Given the description of an element on the screen output the (x, y) to click on. 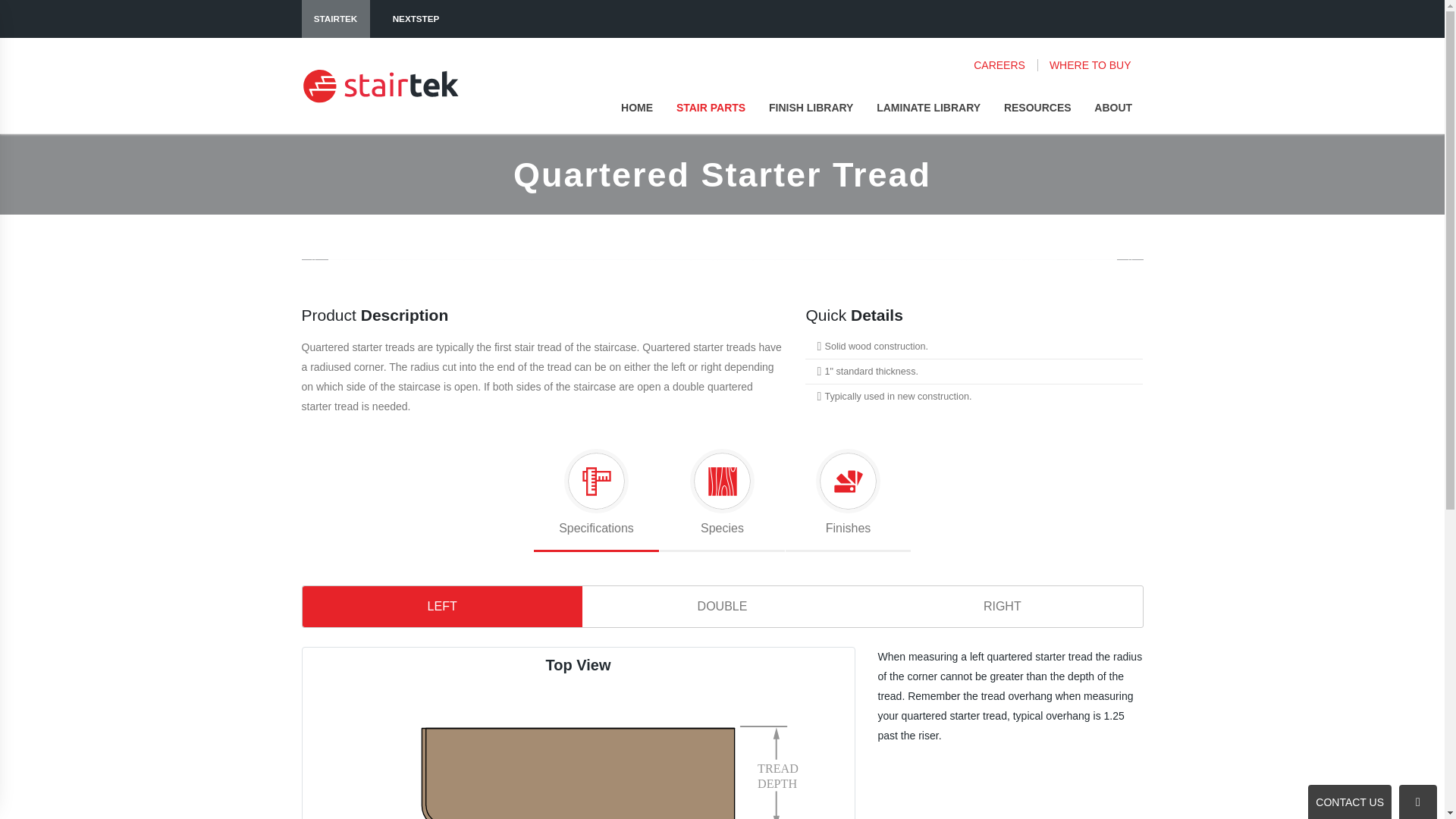
LEFT (440, 606)
FINISH LIBRARY (811, 107)
Finishes (848, 497)
LAMINATE LIBRARY (928, 107)
HOME (636, 107)
STAIR PARTS (711, 107)
Species (721, 497)
RESOURCES (1036, 107)
CAREERS (1005, 64)
ABOUT (1112, 107)
